Given the description of an element on the screen output the (x, y) to click on. 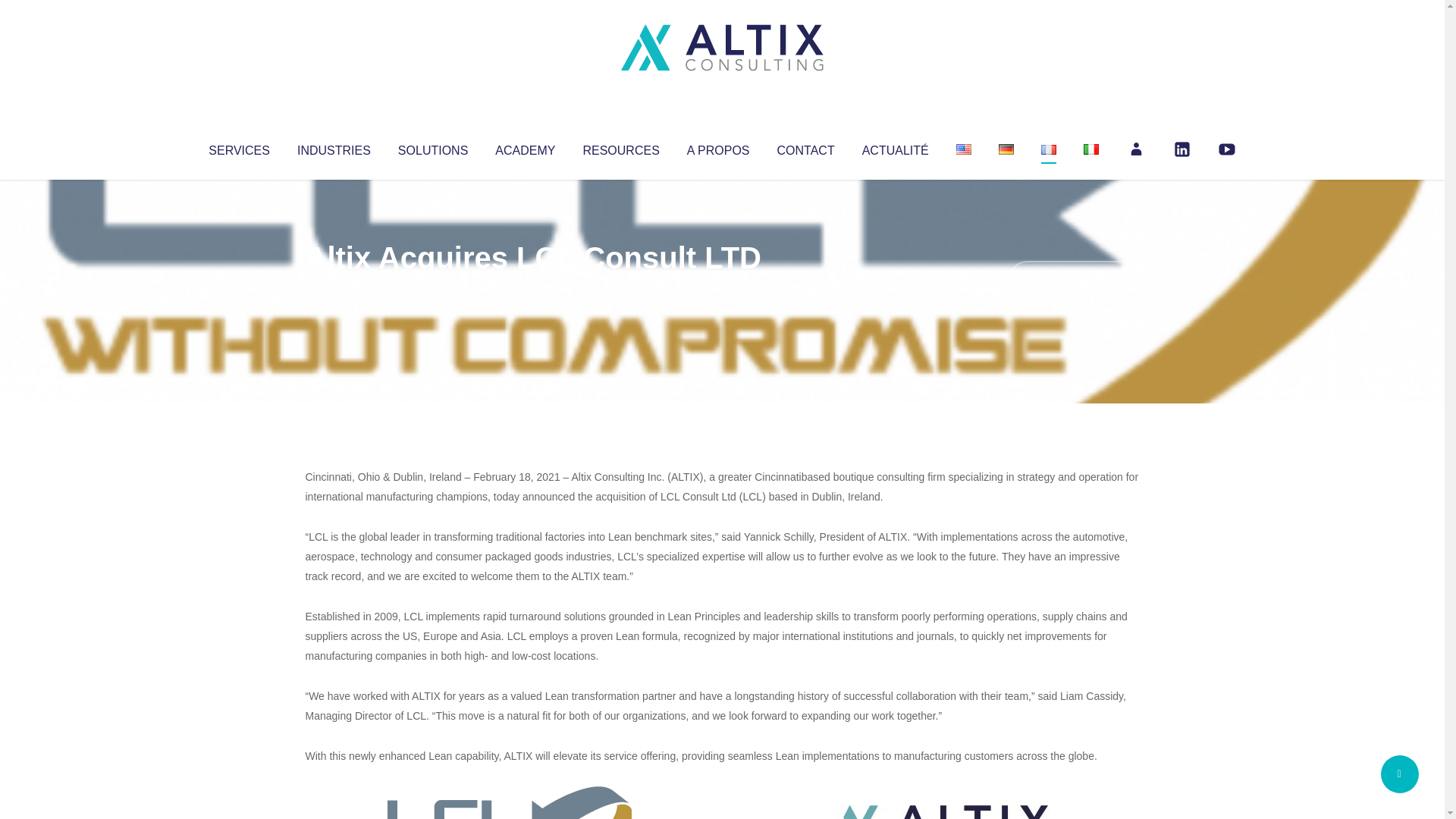
SERVICES (238, 146)
A PROPOS (718, 146)
Articles par Altix (333, 287)
No Comments (1073, 278)
ACADEMY (524, 146)
INDUSTRIES (334, 146)
Altix (333, 287)
Uncategorized (530, 287)
SOLUTIONS (432, 146)
RESOURCES (620, 146)
